Given the description of an element on the screen output the (x, y) to click on. 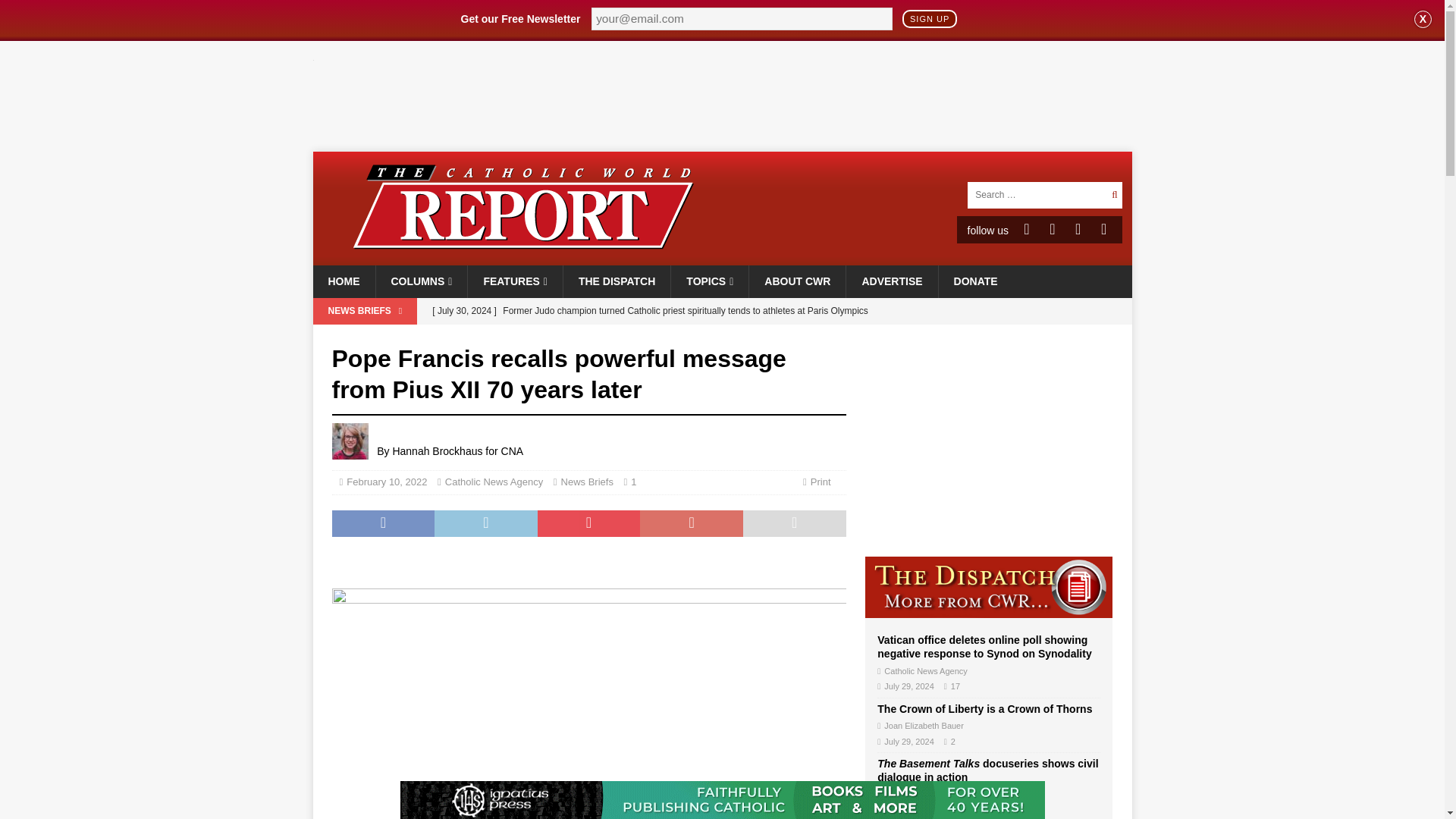
Search for: (1035, 194)
SIGN UP (929, 18)
Catholic World Report (722, 256)
Hide This (1422, 18)
